Given the description of an element on the screen output the (x, y) to click on. 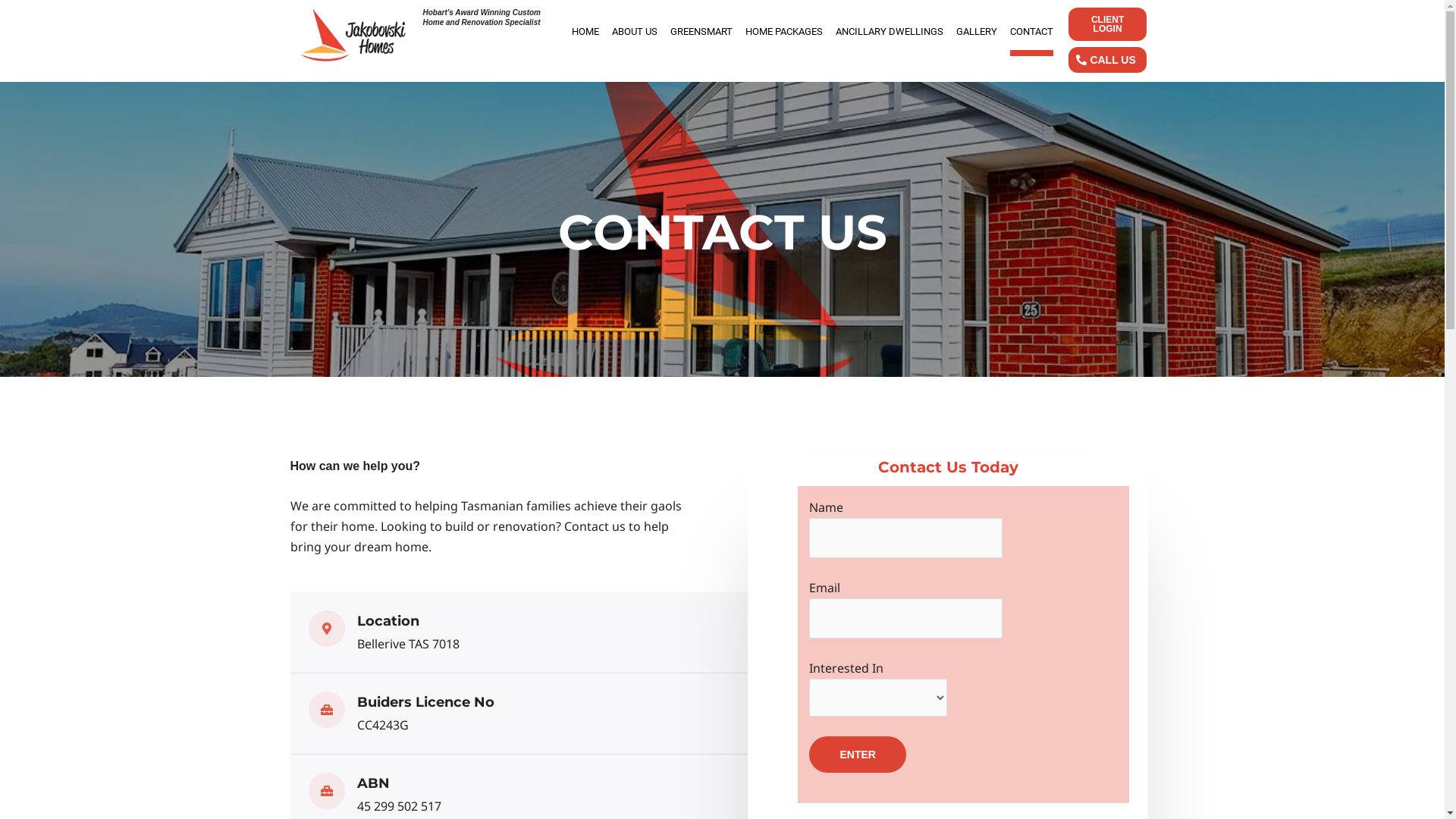
CONTACT Element type: text (1031, 31)
ENTER Element type: text (857, 754)
ANCILLARY DWELLINGS Element type: text (889, 31)
HOME Element type: text (585, 31)
CLIENT LOGIN Element type: text (1106, 23)
ABOUT US Element type: text (634, 31)
GREENSMART Element type: text (701, 31)
HOME PACKAGES Element type: text (783, 31)
CALL US Element type: text (1106, 59)
GALLERY Element type: text (976, 31)
